Given the description of an element on the screen output the (x, y) to click on. 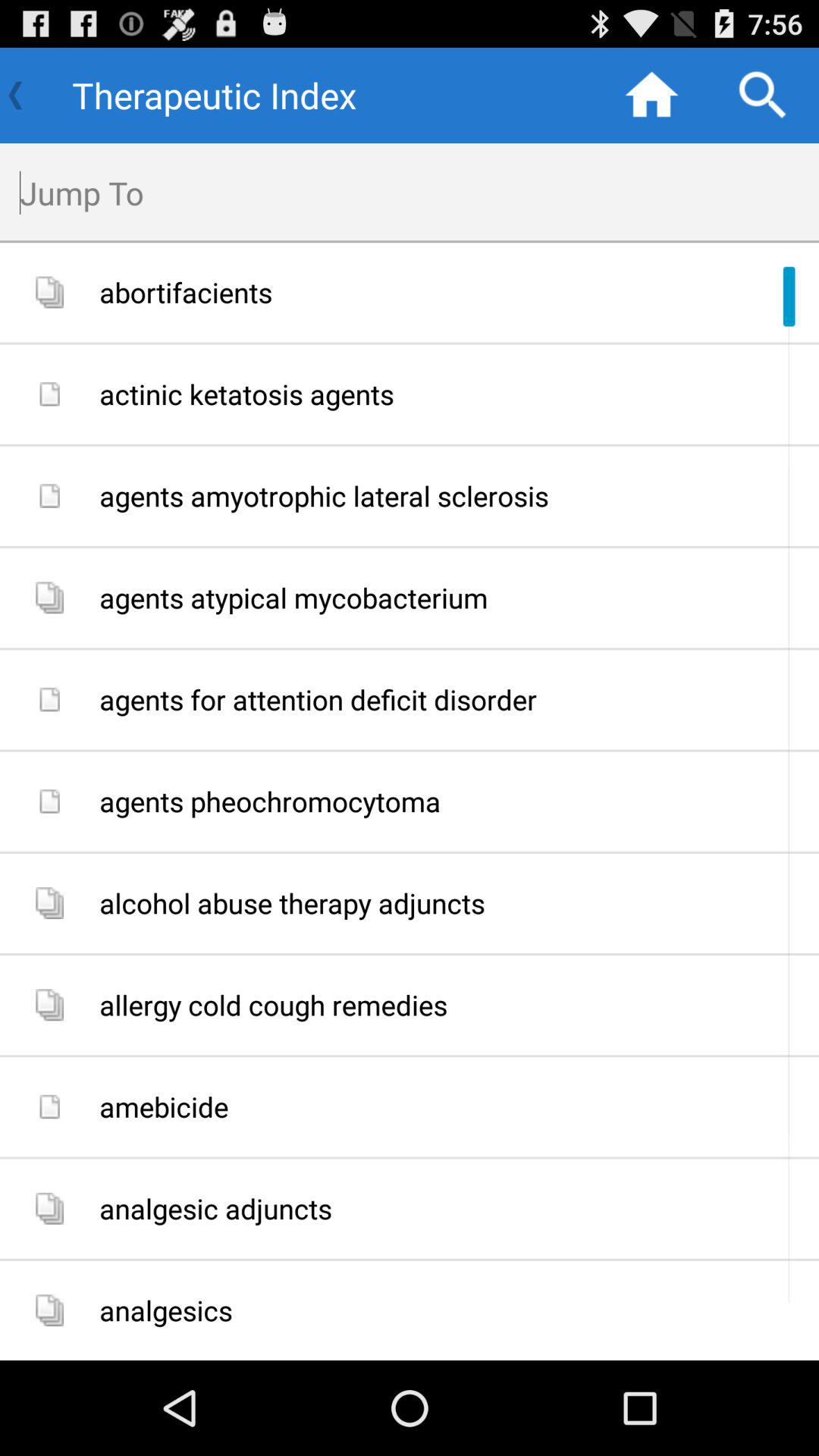
flip until the abortifacients item (453, 292)
